Given the description of an element on the screen output the (x, y) to click on. 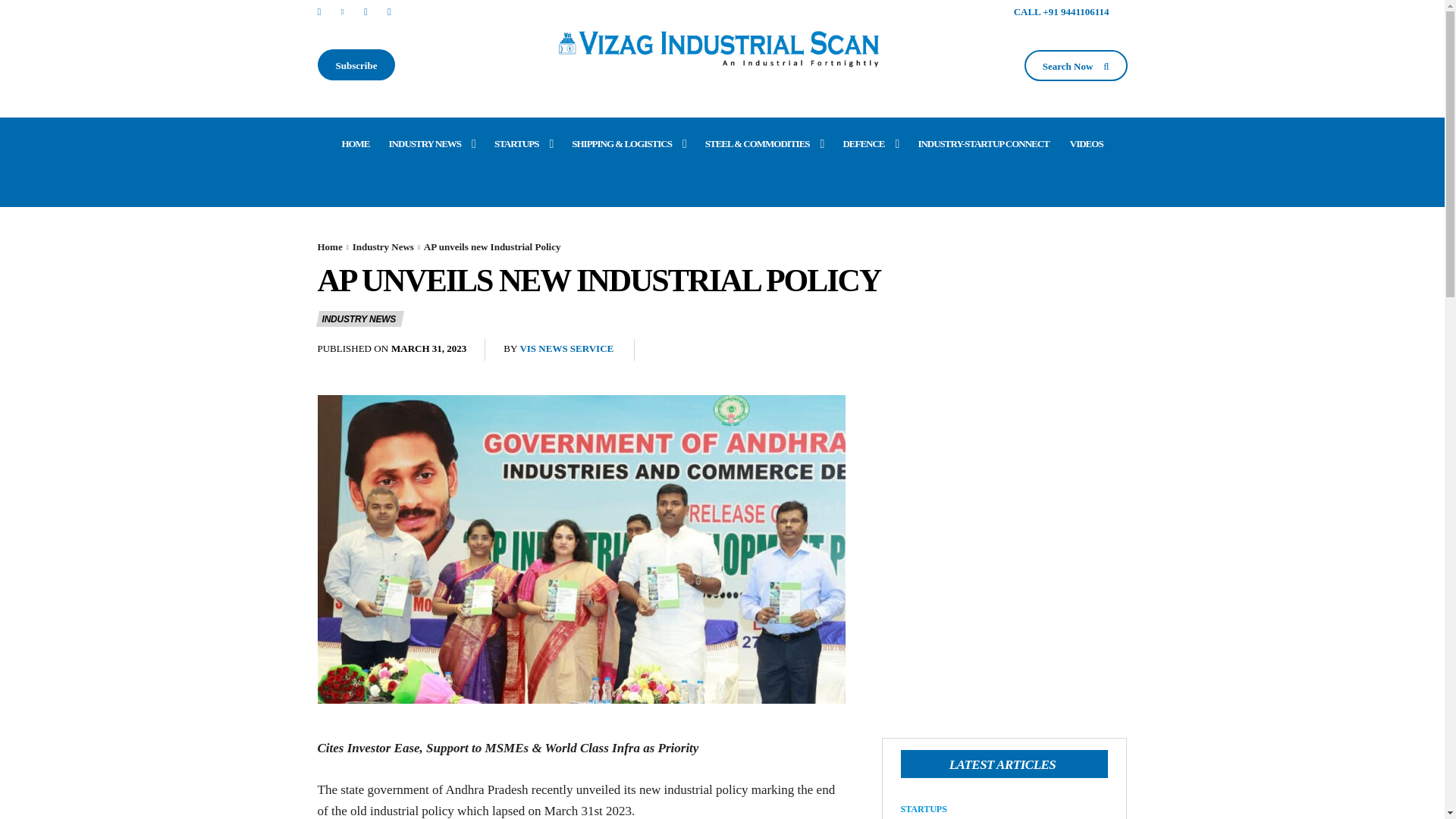
Twitter (366, 11)
Search Now (1075, 65)
Youtube (389, 11)
INDUSTRY NEWS (432, 143)
Vizag Industrial Scan (722, 46)
Linkedin (342, 11)
Search Now (1075, 65)
Facebook (318, 11)
Subscribe (355, 64)
Vizag Industrial Scan (722, 46)
